Given the description of an element on the screen output the (x, y) to click on. 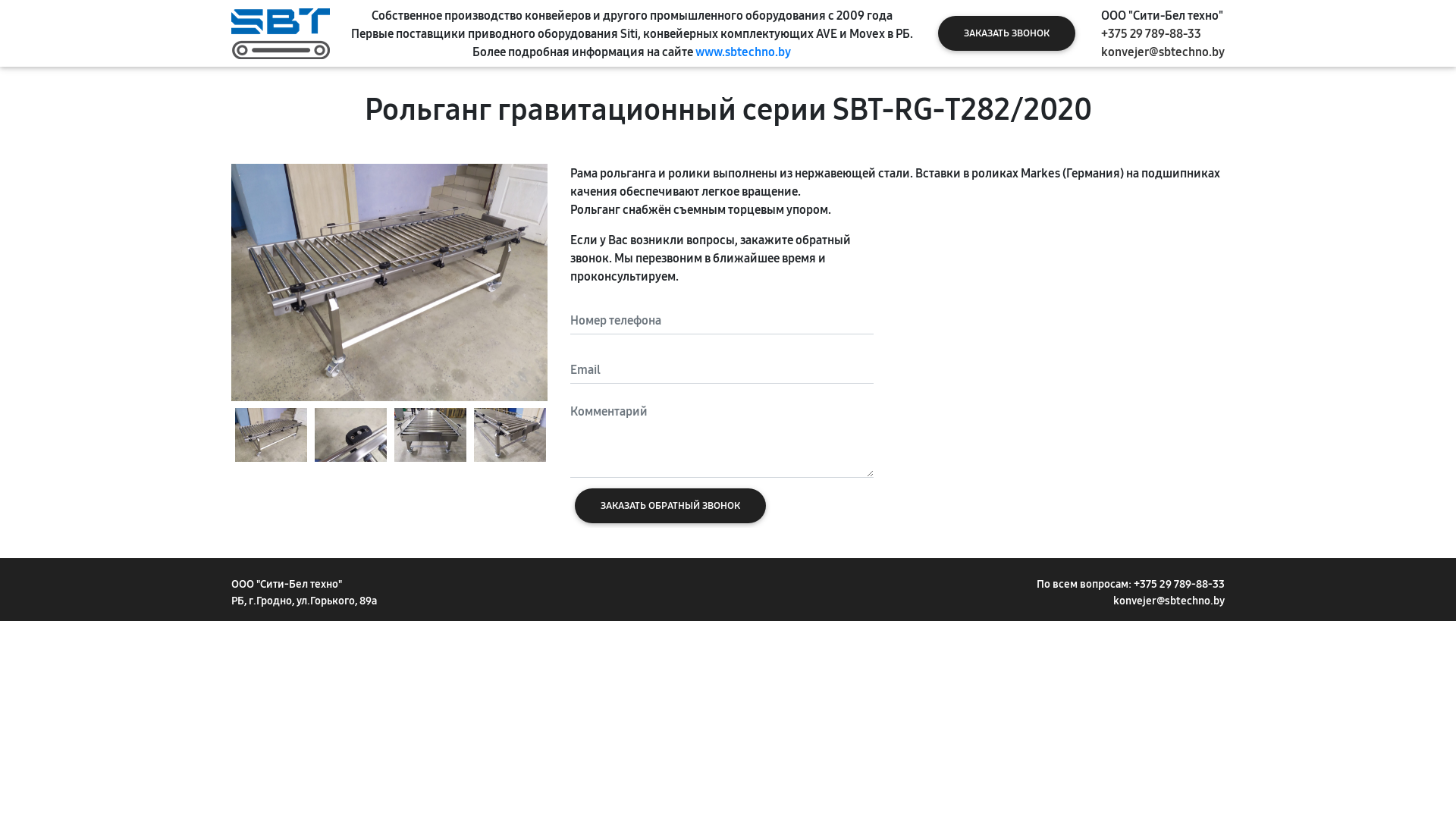
+375 29 789-88-33 Element type: text (1151, 33)
+375 29 789-88-33 Element type: text (1178, 583)
www.sbtechno.by Element type: text (742, 51)
konvejer@sbtechno.by Element type: text (1168, 600)
konvejer@sbtechno.by Element type: text (1162, 51)
